Given the description of an element on the screen output the (x, y) to click on. 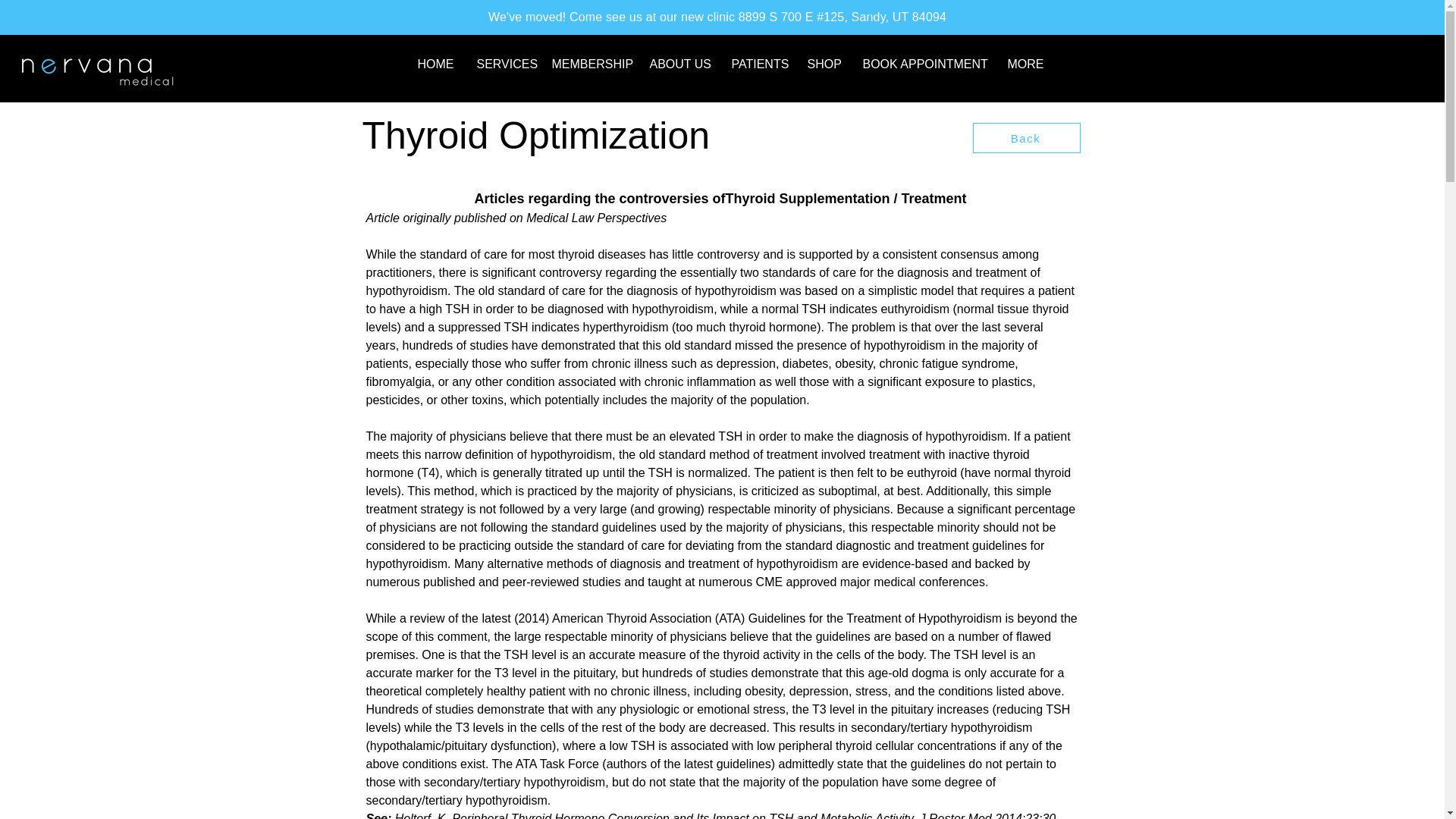
HOME (435, 64)
BOOK APPOINTMENT (922, 64)
Back (1026, 137)
MEMBERSHIP (588, 64)
